Given the description of an element on the screen output the (x, y) to click on. 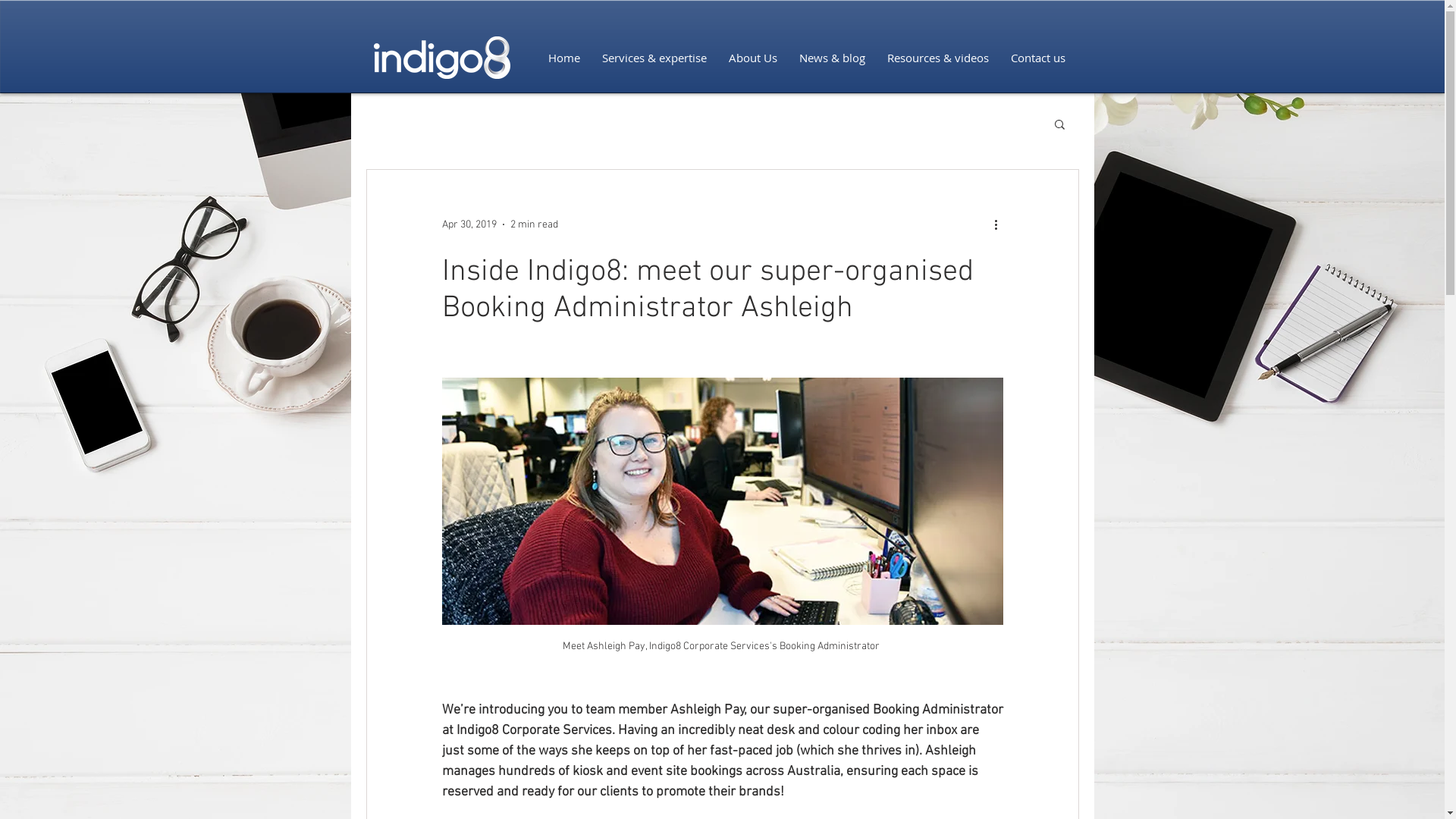
About Us Element type: text (752, 57)
News & blog Element type: text (832, 57)
Services & expertise Element type: text (654, 57)
Home Element type: text (563, 57)
Resources & videos Element type: text (938, 57)
Contact us Element type: text (1037, 57)
